Given the description of an element on the screen output the (x, y) to click on. 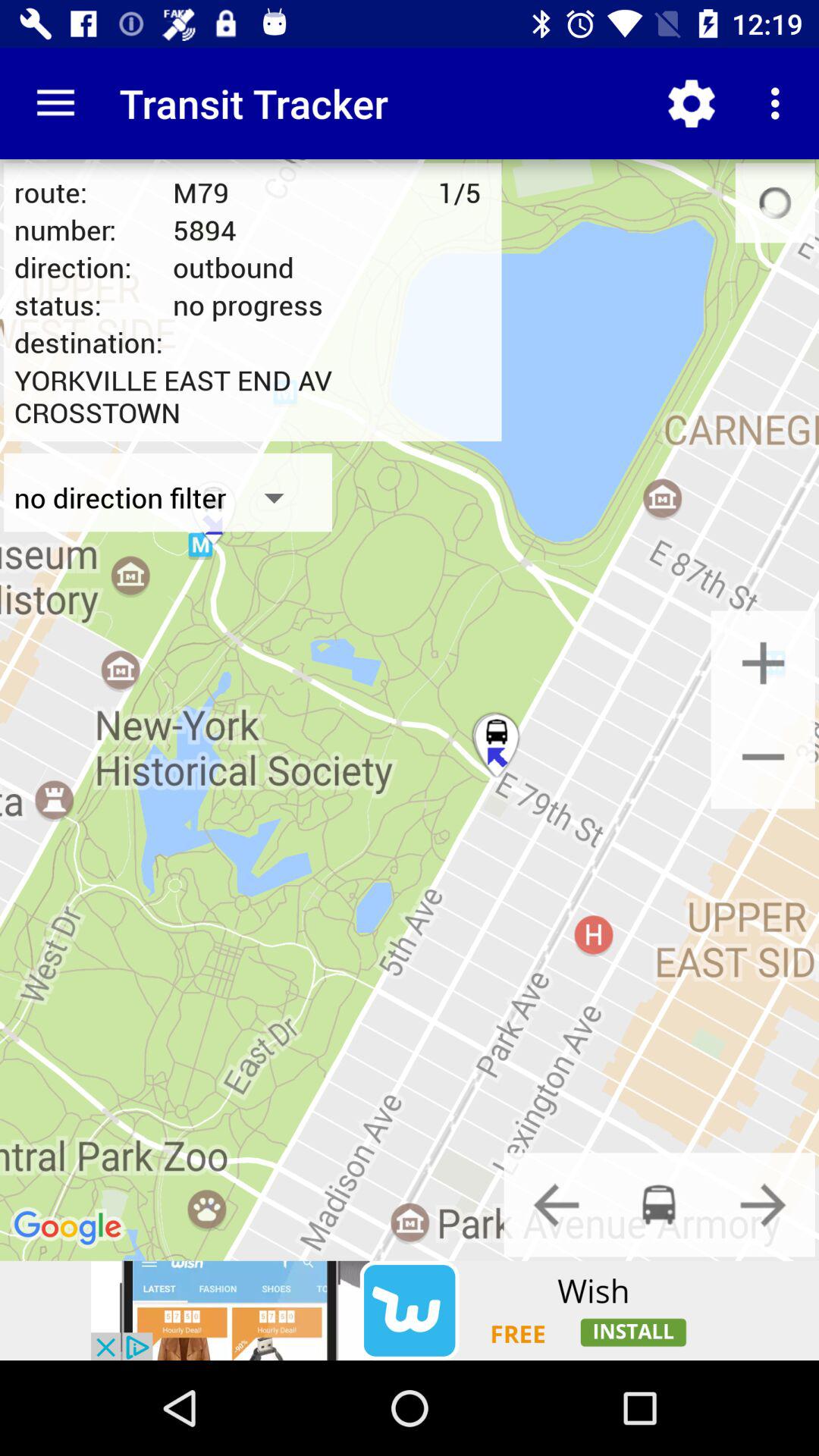
open advertisement (409, 1310)
